Given the description of an element on the screen output the (x, y) to click on. 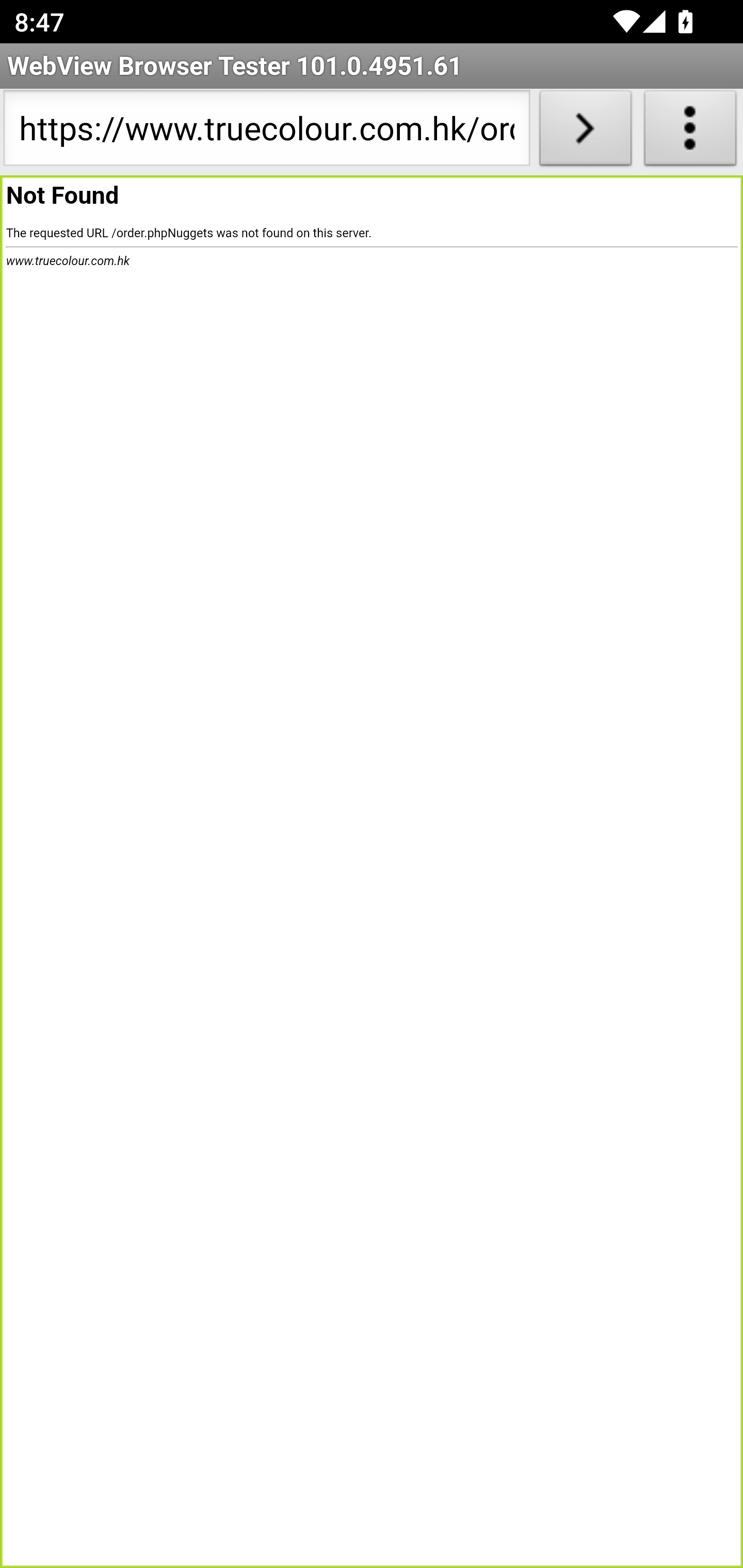
https://www.truecolour.com.hk/order.phpNuggets (266, 132)
Load URL (585, 132)
About WebView (690, 132)
